Given the description of an element on the screen output the (x, y) to click on. 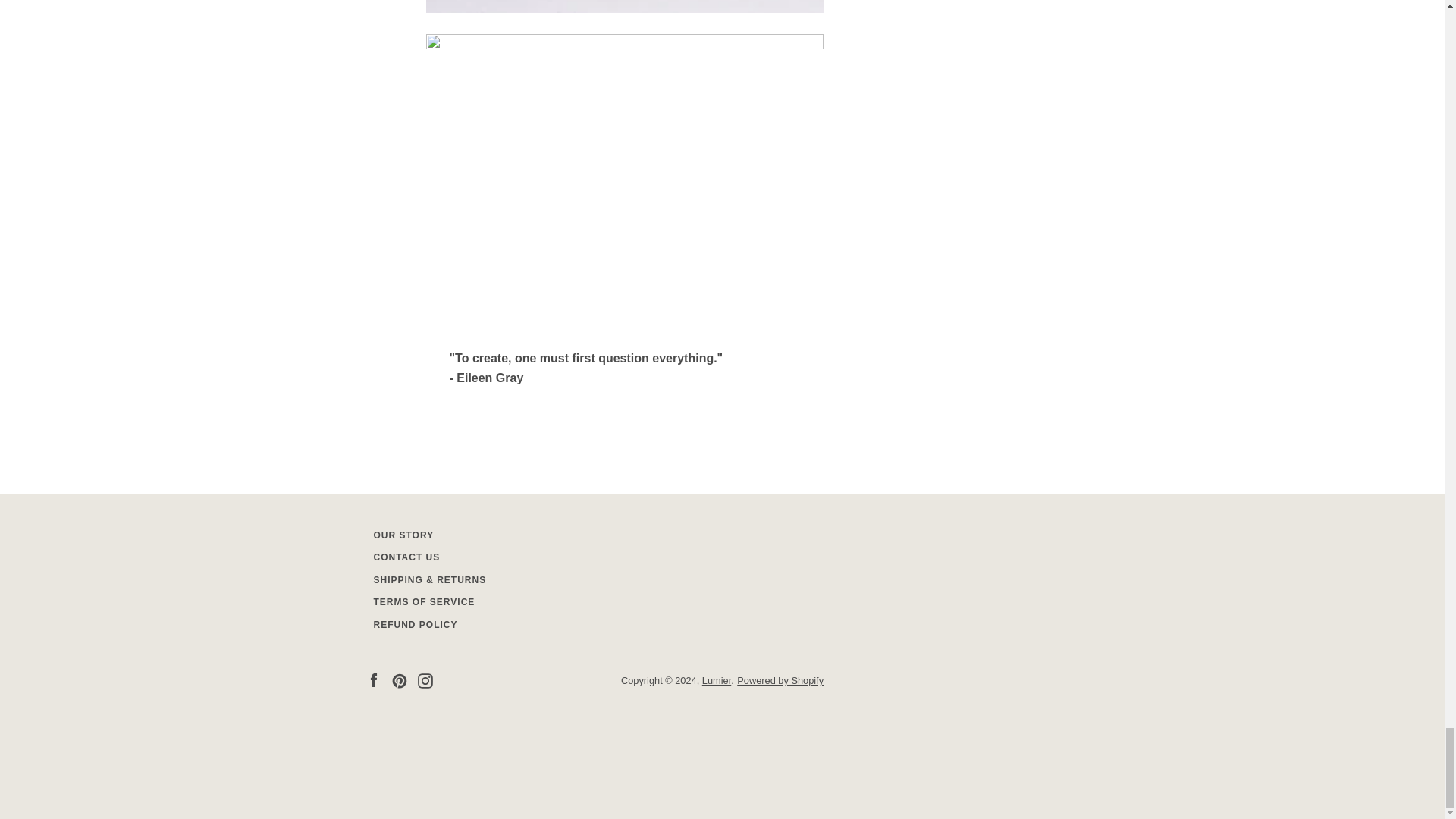
REFUND POLICY (414, 624)
Lumier (715, 680)
CONTACT US (405, 557)
TERMS OF SERVICE (423, 602)
Lumier on Facebook (372, 679)
Facebook (372, 679)
Lumier on Instagram (424, 679)
Lumier on Pinterest (399, 679)
Instagram (424, 679)
OUR STORY (402, 534)
